Given the description of an element on the screen output the (x, y) to click on. 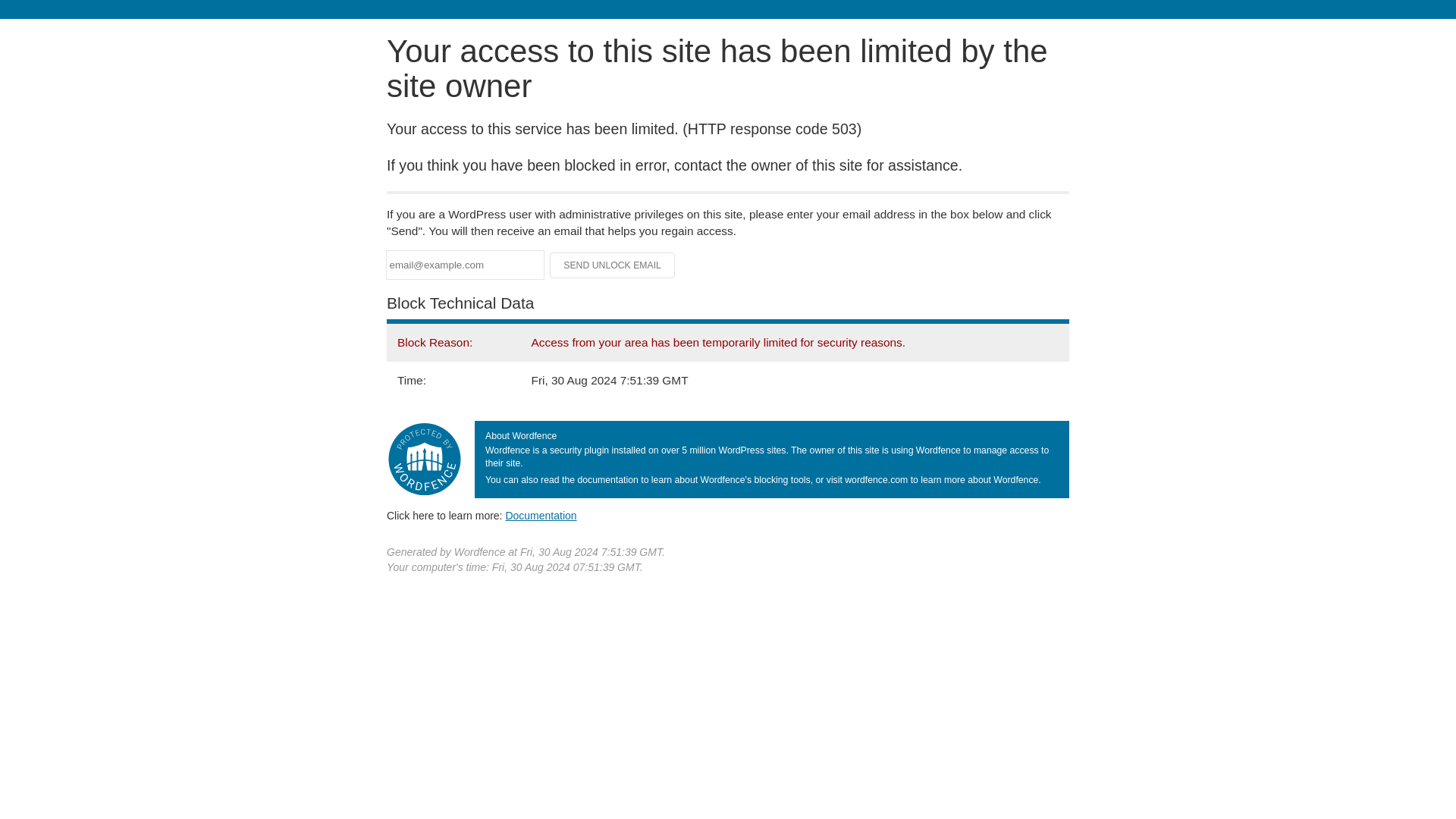
Documentation (540, 515)
Send Unlock Email (612, 265)
Send Unlock Email (612, 265)
